Given the description of an element on the screen output the (x, y) to click on. 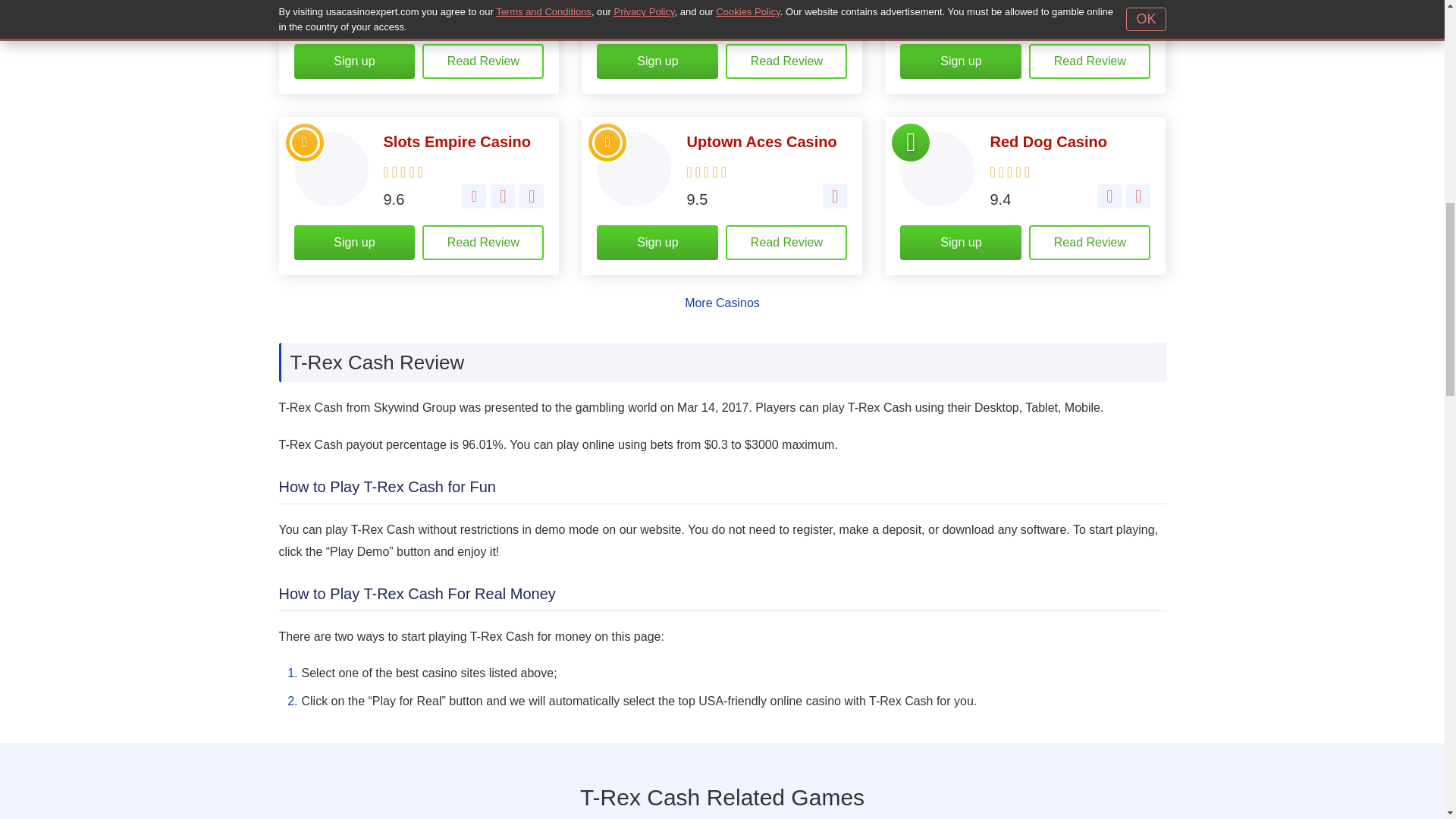
Mobile Friendly (805, 15)
Mobile Friendly (502, 196)
With Live Dealers (1137, 15)
Mobile Friendly (1109, 15)
Mobile Friendly (531, 15)
With Live Dealers (531, 196)
With Live Dealers (834, 15)
Top 5 Casinos (607, 142)
Top 5 Casinos (304, 142)
Mobile Friendly (1109, 196)
Mobile Friendly (834, 196)
With Live Dealers (1137, 196)
